Given the description of an element on the screen output the (x, y) to click on. 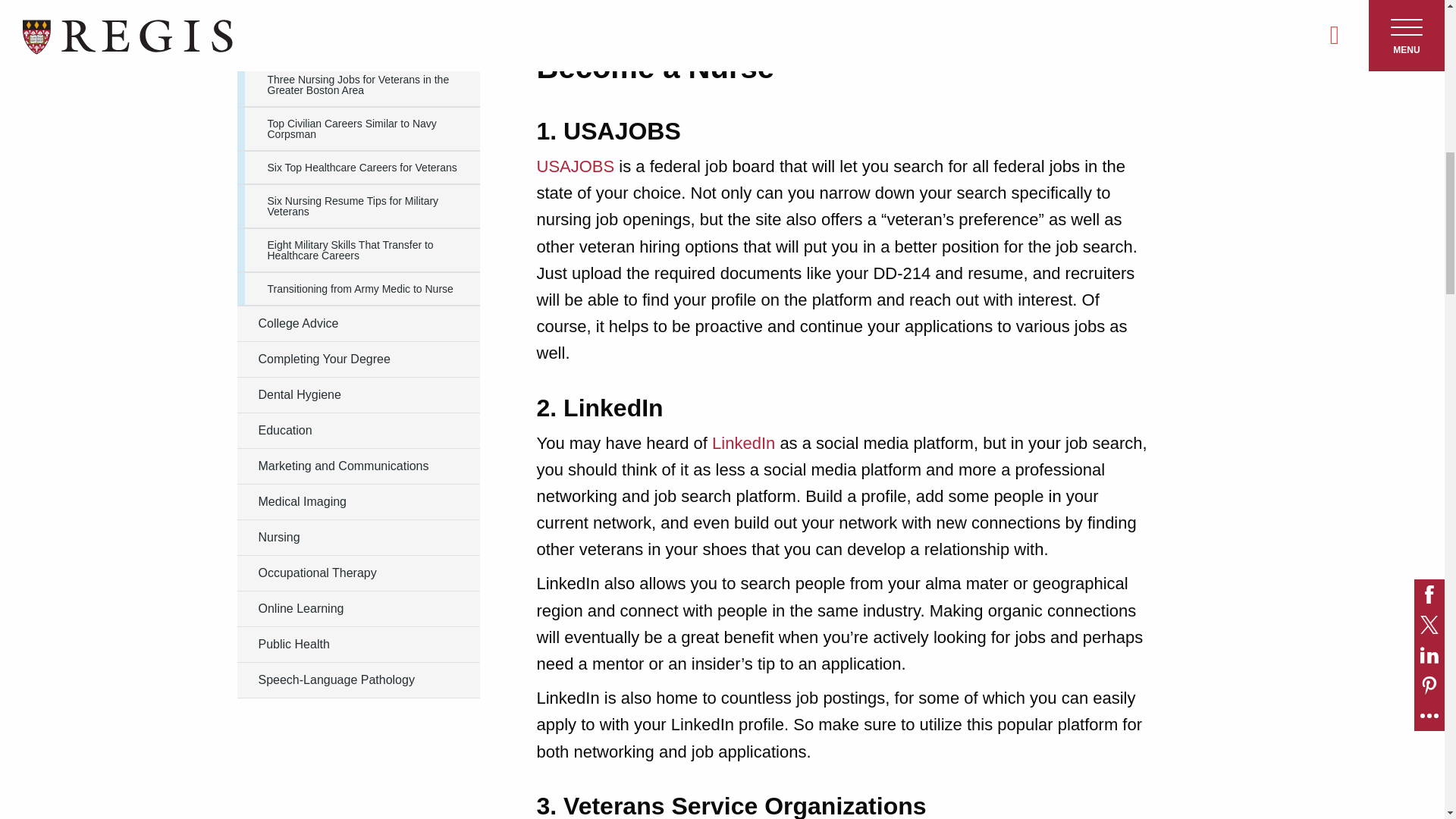
College Advice (357, 323)
